Given the description of an element on the screen output the (x, y) to click on. 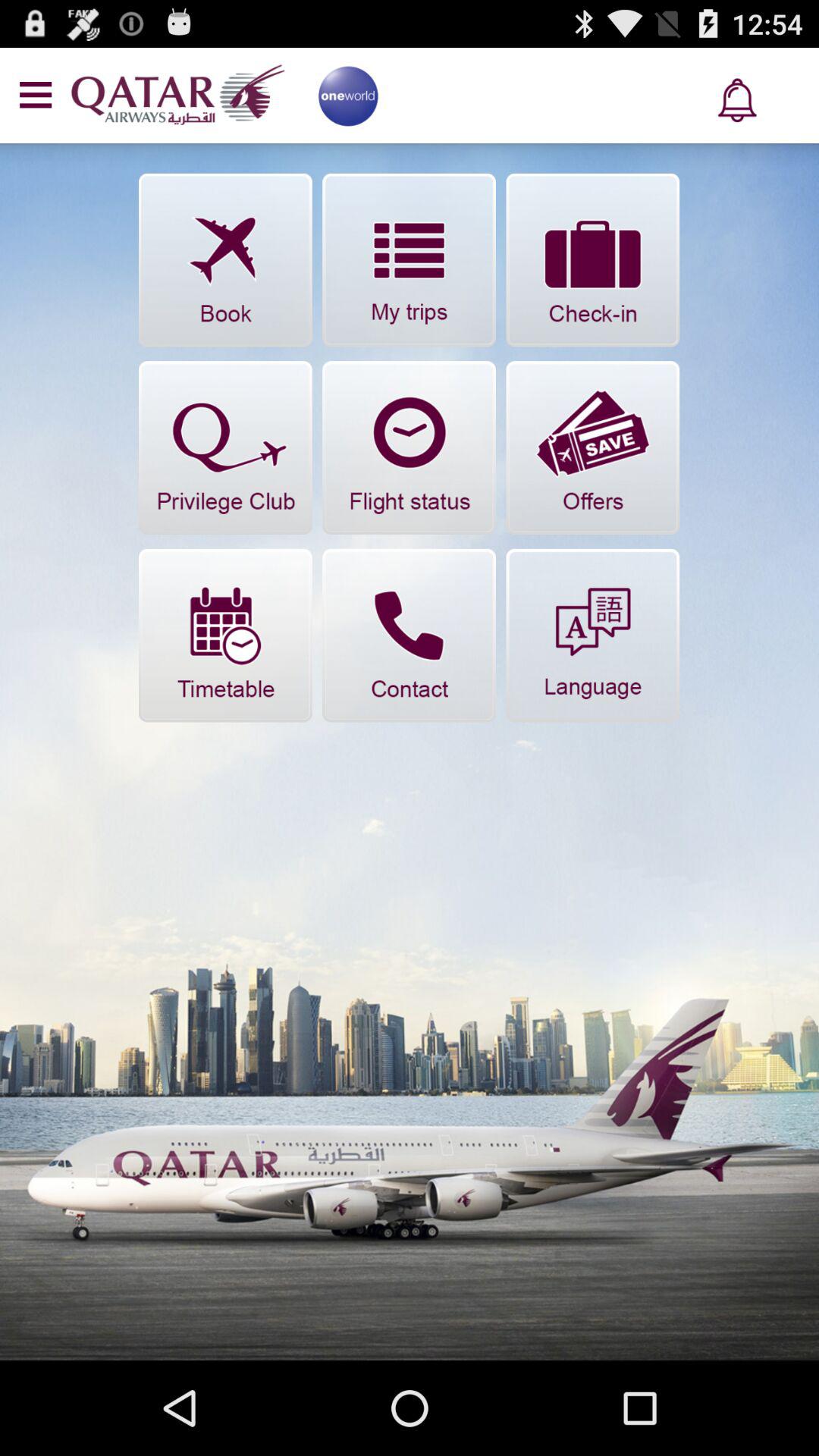
click to save option (592, 447)
